Given the description of an element on the screen output the (x, y) to click on. 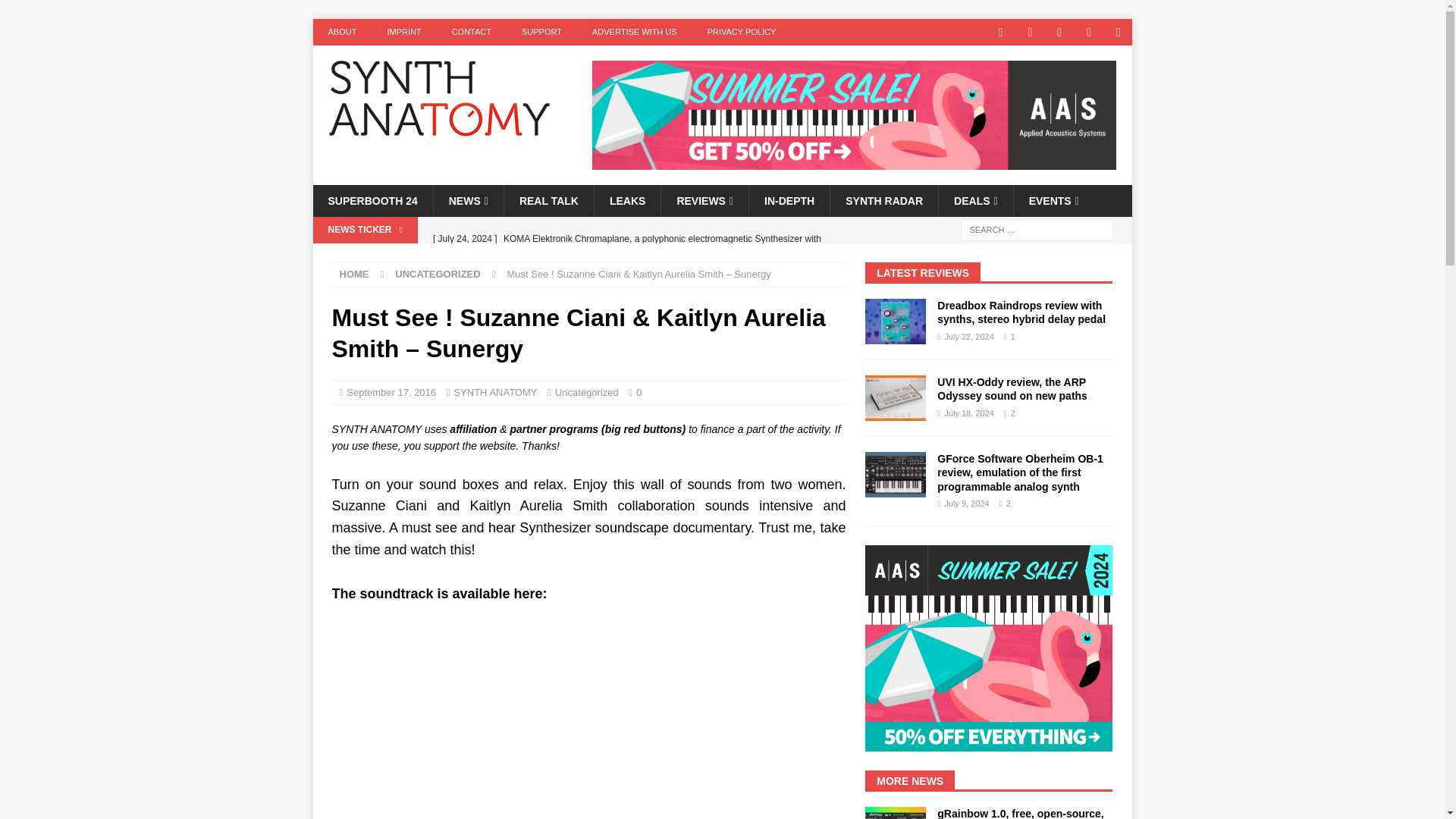
PRIVACY POLICY (742, 31)
IMPRINT (403, 31)
CONTACT (471, 31)
ADVERTISE WITH US (634, 31)
UVI HX-Oddy review, the ARP Odyssey sound on new paths (895, 397)
SUPPORT (541, 31)
ABOUT (342, 31)
UVI HX-Oddy review, the ARP Odyssey sound on new paths (1012, 388)
